Given the description of an element on the screen output the (x, y) to click on. 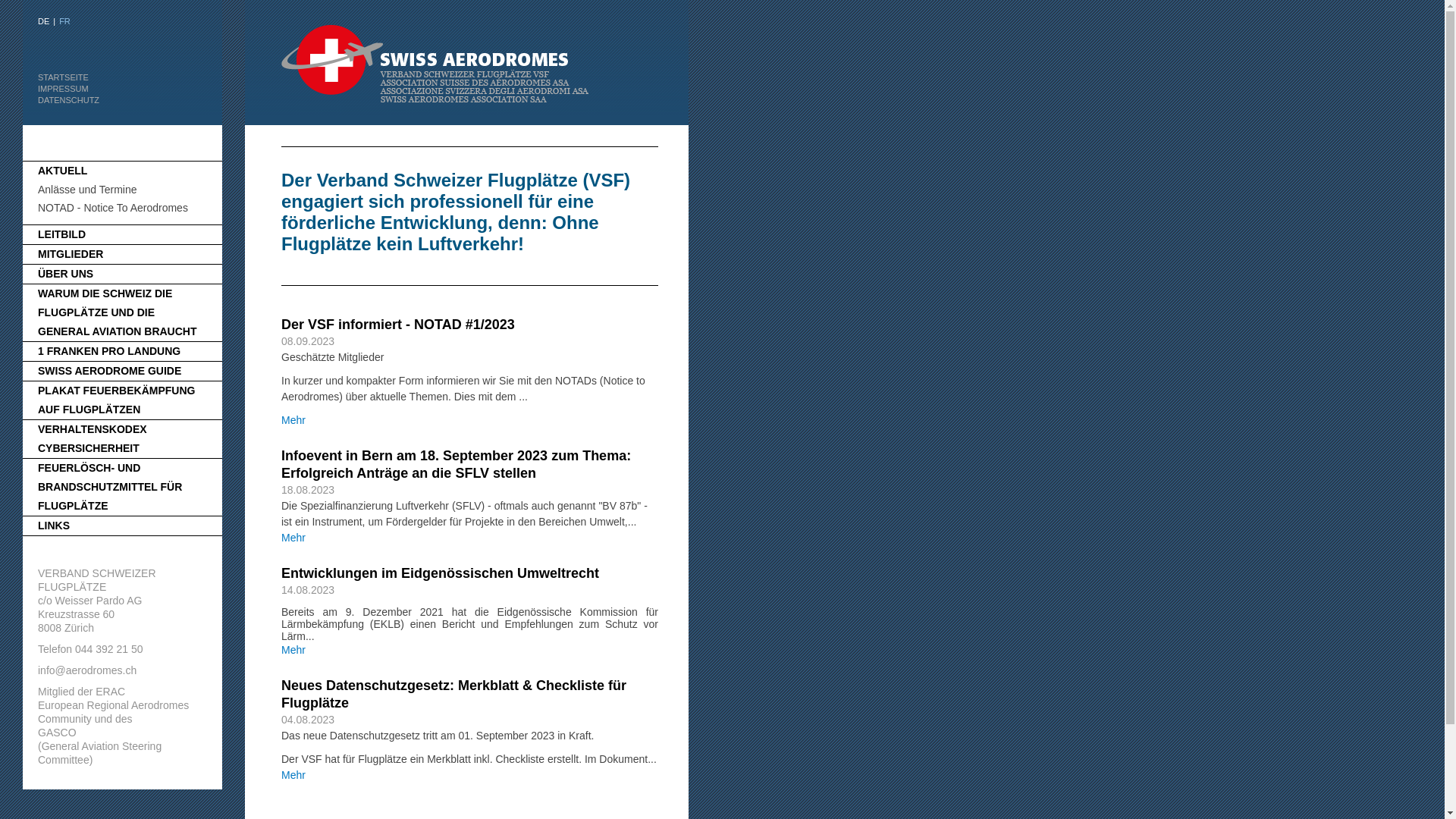
STARTSEITE Element type: text (62, 76)
DATENSCHUTZ Element type: text (68, 99)
info@aerodromes.ch Element type: text (86, 670)
NOTAD - Notice To Aerodromes Element type: text (112, 207)
Der VSF informiert - NOTAD #1/2023 Element type: text (397, 324)
Mehr Element type: text (293, 649)
Mehr Element type: text (293, 537)
LEITBILD Element type: text (61, 234)
LINKS Element type: text (53, 525)
Mehr Element type: text (293, 420)
AKTUELL Element type: text (62, 170)
1 FRANKEN PRO LANDUNG Element type: text (108, 351)
MITGLIEDER Element type: text (70, 253)
044 392 21 50 Element type: text (109, 649)
SWISS AERODROME GUIDE Element type: text (109, 370)
IMPRESSUM Element type: text (62, 88)
DE Element type: text (43, 20)
FR Element type: text (64, 20)
Mehr Element type: text (293, 774)
VERHALTENSKODEX CYBERSICHERHEIT Element type: text (92, 438)
